Given the description of an element on the screen output the (x, y) to click on. 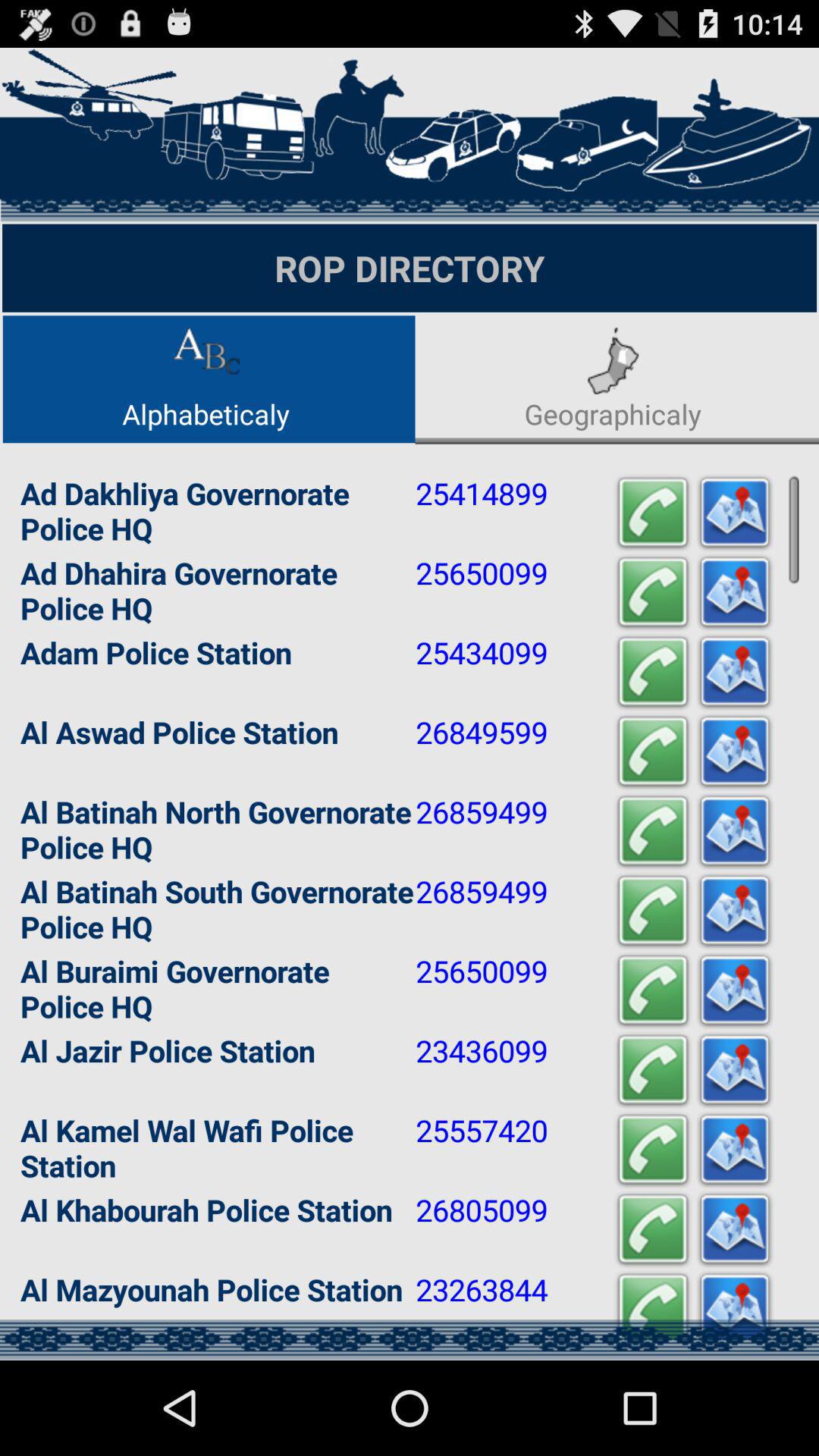
show details in map (734, 831)
